Given the description of an element on the screen output the (x, y) to click on. 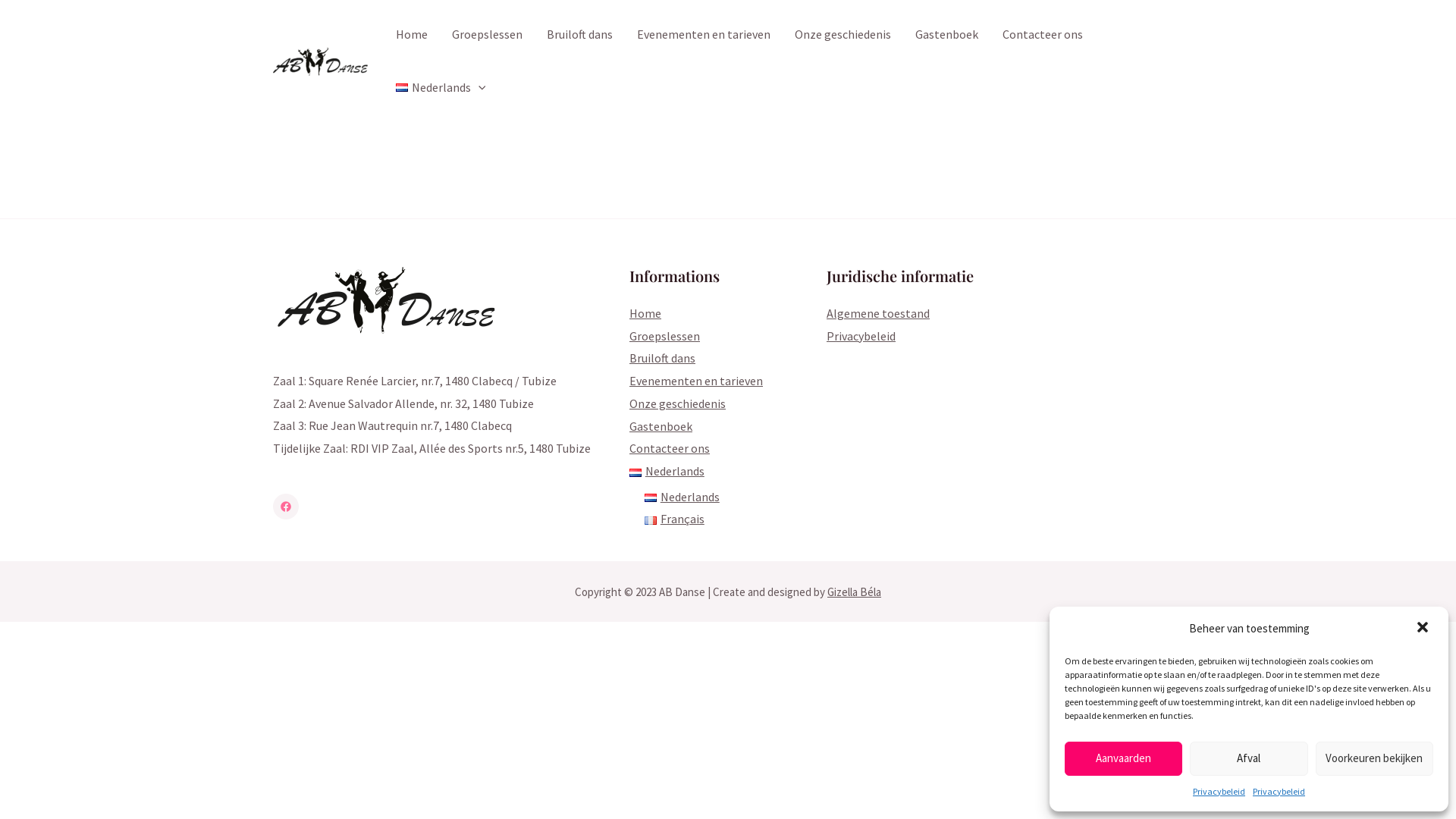
Nederlands Element type: text (666, 470)
Contacteer ons Element type: text (669, 447)
Contacteer ons Element type: text (1042, 33)
Nederlands Element type: text (440, 86)
Gastenboek Element type: text (946, 33)
Evenementen en tarieven Element type: text (703, 33)
Algemene toestand Element type: text (877, 312)
Voorkeuren bekijken Element type: text (1374, 758)
Aanvaarden Element type: text (1123, 758)
Gastenboek Element type: text (660, 425)
Bruiloft dans Element type: text (662, 357)
Onze geschiedenis Element type: text (842, 33)
Groepslessen Element type: text (486, 33)
Onze geschiedenis Element type: text (677, 403)
Nederlands Element type: text (681, 496)
Privacybeleid Element type: text (1278, 791)
Privacybeleid Element type: text (860, 335)
Bruiloft dans Element type: text (579, 33)
Privacybeleid Element type: text (1218, 791)
Evenementen en tarieven Element type: text (695, 380)
Home Element type: text (411, 33)
Groepslessen Element type: text (664, 335)
Home Element type: text (645, 312)
Afval Element type: text (1248, 758)
